Given the description of an element on the screen output the (x, y) to click on. 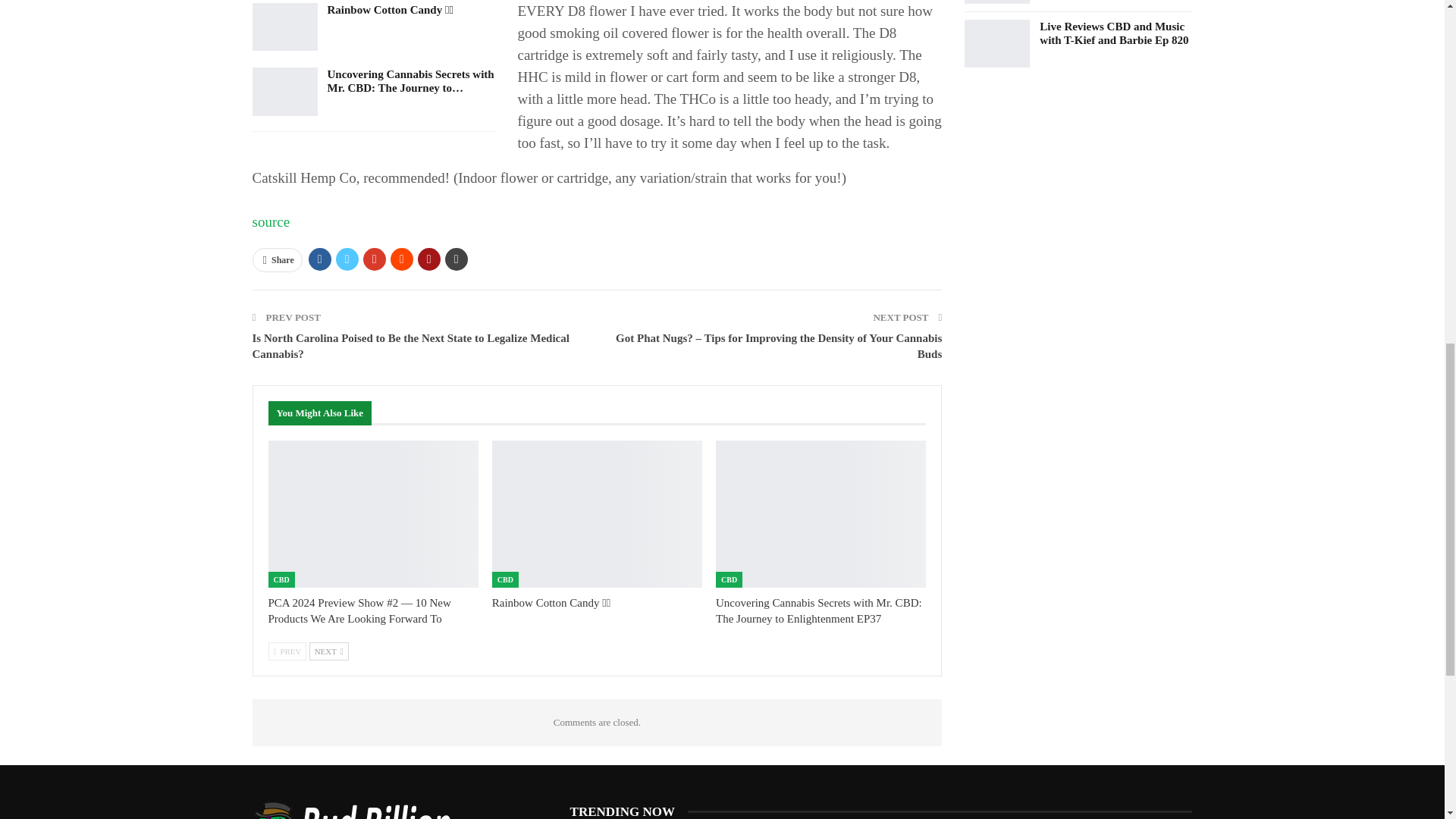
Previous (287, 651)
Next (328, 651)
source (270, 221)
